Given the description of an element on the screen output the (x, y) to click on. 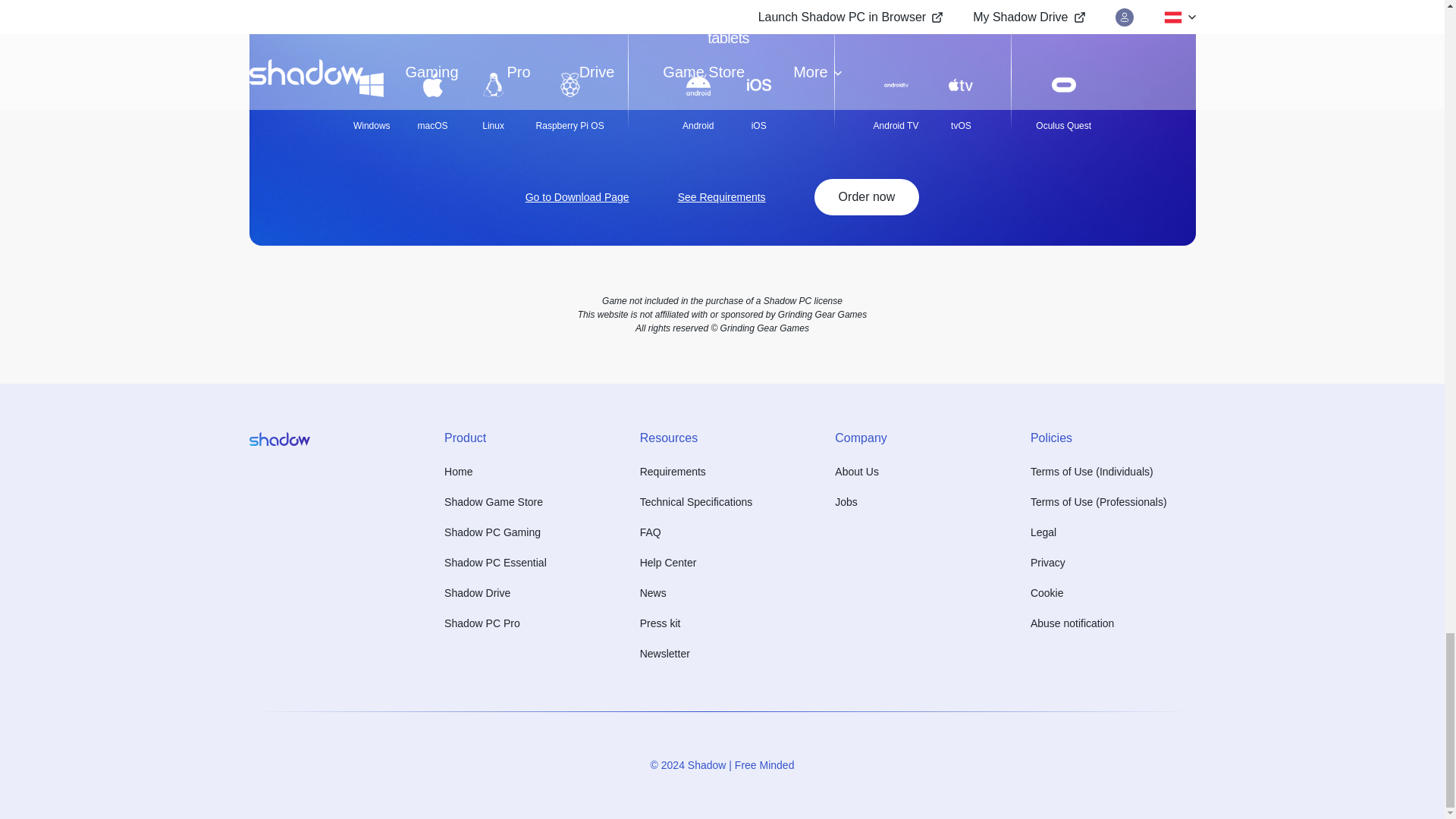
Home (457, 471)
Order now (866, 197)
Go to Download Page (576, 197)
See Requirements (721, 197)
